Given the description of an element on the screen output the (x, y) to click on. 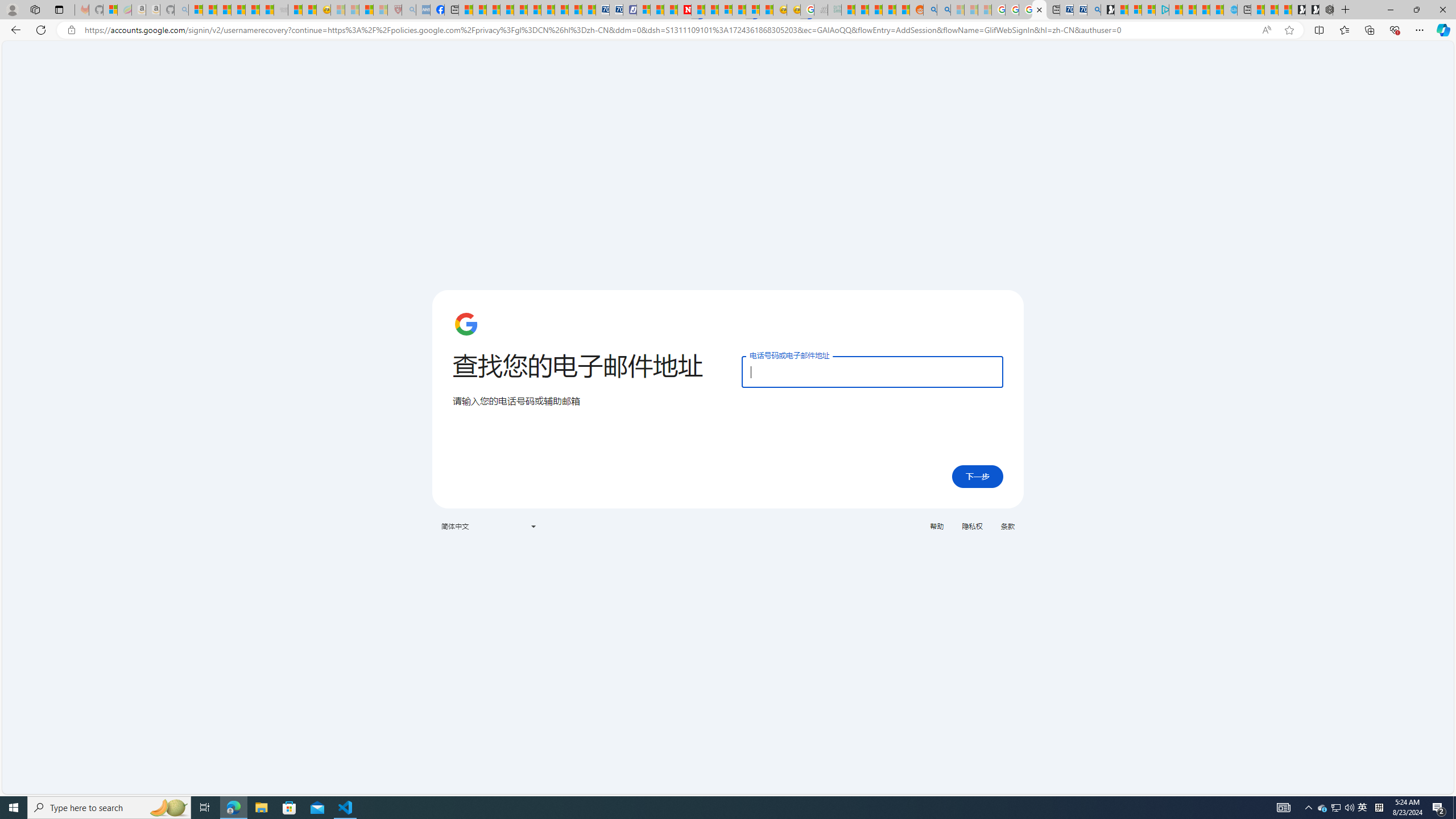
Utah sues federal government - Search (943, 9)
14 Common Myths Debunked By Scientific Facts (711, 9)
Nordace - Nordace Siena Is Not An Ordinary Backpack (1326, 9)
12 Popular Science Lies that Must be Corrected - Sleeping (380, 9)
Student Loan Update: Forgiveness Program Ends This Month (889, 9)
Microsoft Start Gaming (1107, 9)
